Given the description of an element on the screen output the (x, y) to click on. 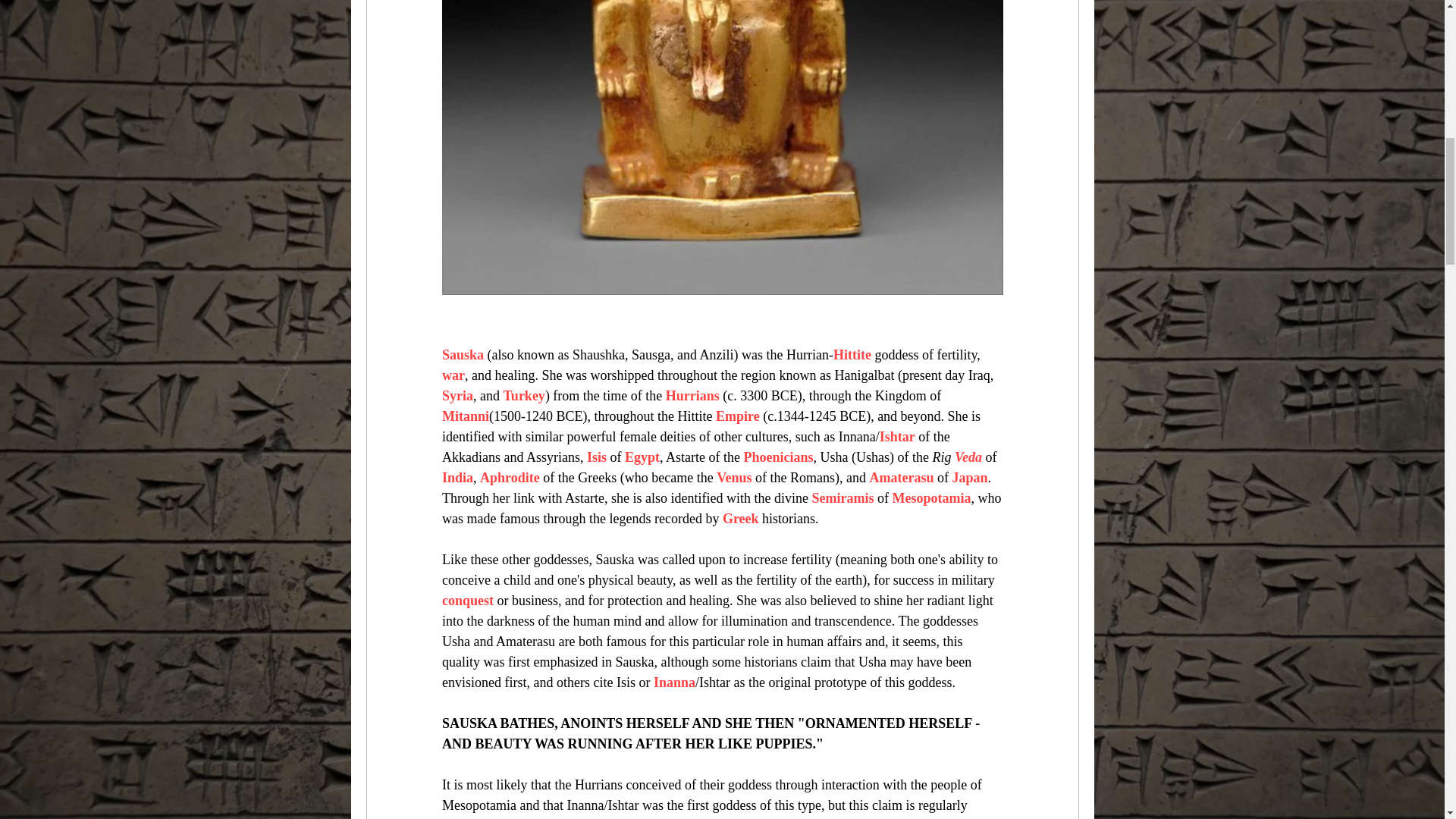
Hittite (851, 354)
war (452, 375)
Hurrians (692, 395)
Mitanni (464, 416)
Sauska (462, 354)
Syria (456, 395)
Turkey (523, 395)
